Given the description of an element on the screen output the (x, y) to click on. 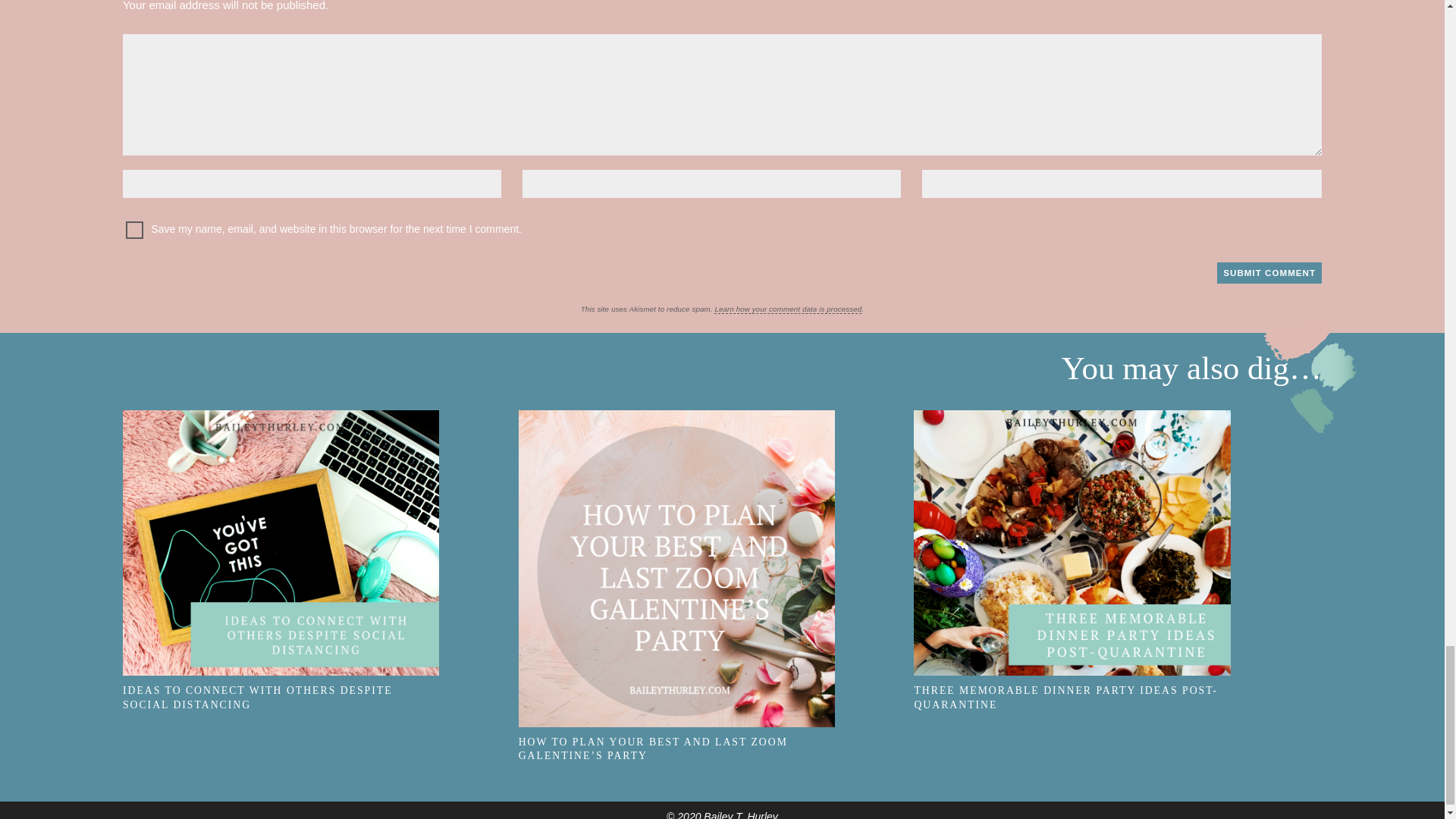
IDEAS TO CONNECT WITH OTHERS DESPITE SOCIAL DISTANCING (320, 685)
Submit Comment (1269, 272)
Learn how your comment data is processed (787, 308)
Three memorable dinner party ideas post-quarantine (1072, 542)
Submit Comment (1269, 272)
Ideas to Connect with Others Despite Social Distancing (280, 542)
yes (133, 230)
THREE MEMORABLE DINNER PARTY IDEAS POST-QUARANTINE (1111, 685)
